Given the description of an element on the screen output the (x, y) to click on. 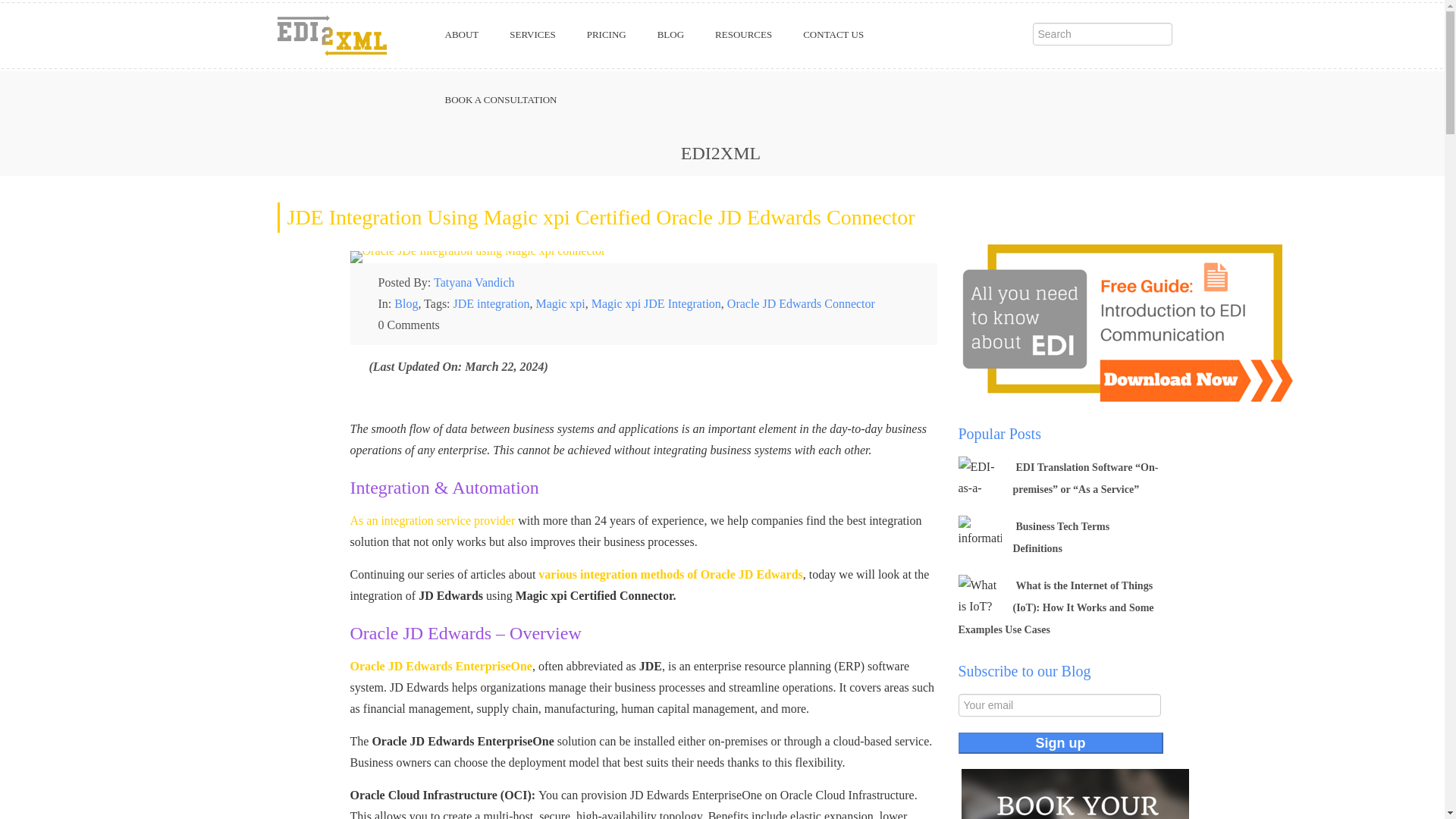
CONTACT US (833, 34)
Sign up (1060, 742)
Posts by Tatyana Vandich (474, 282)
SERVICES (532, 34)
BOOK A CONSULTATION (500, 99)
Download Free Guide (1130, 320)
ABOUT (461, 34)
RESOURCES (743, 34)
PRICING (606, 34)
BLOG (670, 34)
